Given the description of an element on the screen output the (x, y) to click on. 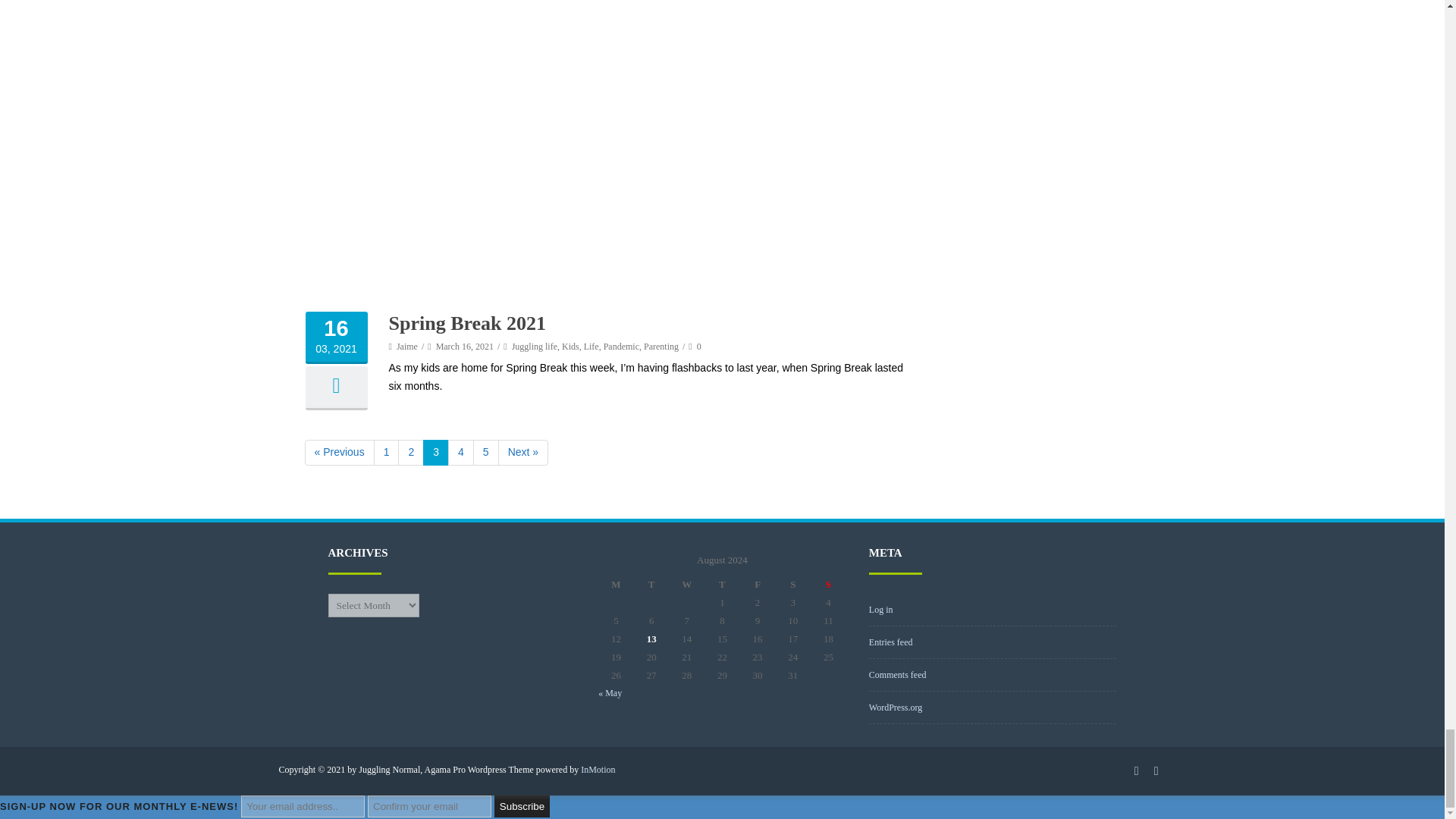
Tuesday (651, 584)
Monday (615, 584)
Saturday (792, 584)
Wednesday (686, 584)
Thursday (721, 584)
Sunday (827, 584)
Friday (757, 584)
Subscribe (522, 806)
